Given the description of an element on the screen output the (x, y) to click on. 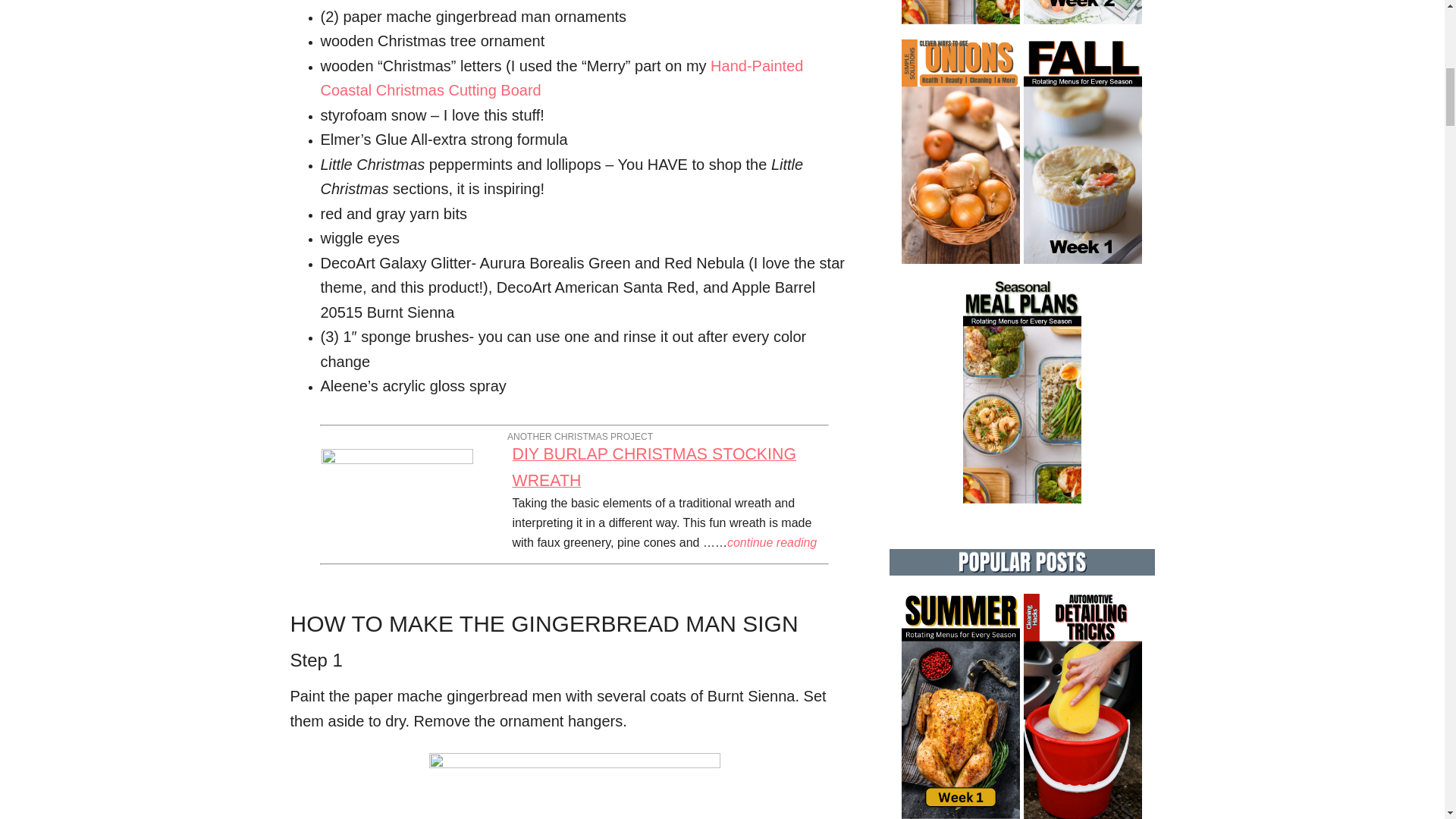
continue reading (771, 542)
Hand-Painted Coastal Christmas Cutting Board (561, 78)
DIY BURLAP CHRISTMAS STOCKING WREATH (654, 468)
